Given the description of an element on the screen output the (x, y) to click on. 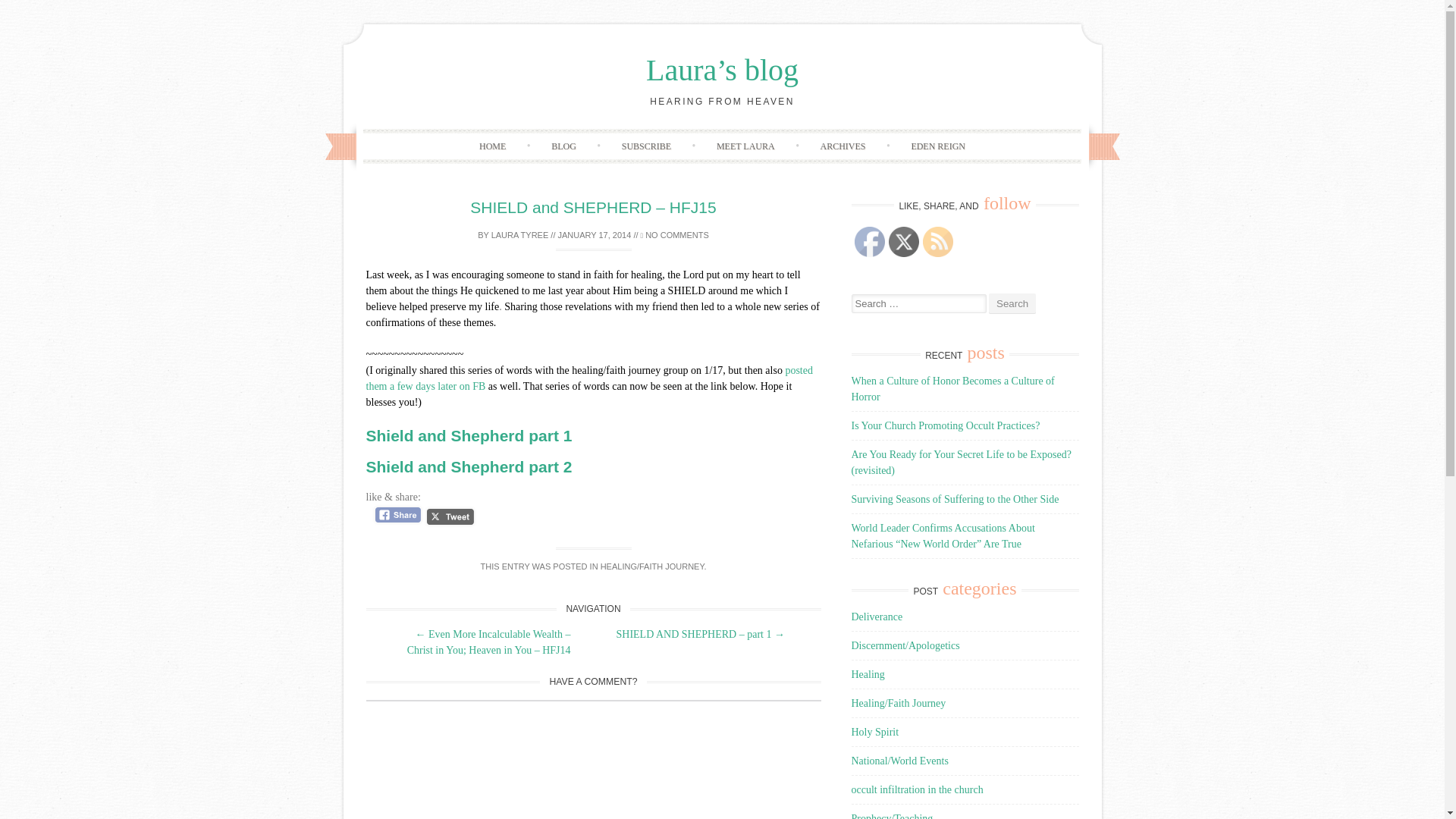
HOME (492, 145)
Deliverance (876, 616)
Facebook Share (397, 514)
4:56 pm (594, 234)
Tweet (450, 516)
When a Culture of Honor Becomes a Culture of Horror (952, 388)
Facebook (868, 241)
MEET LAURA (745, 145)
LAURA TYREE (520, 234)
View all posts by Laura Tyree (520, 234)
